Given the description of an element on the screen output the (x, y) to click on. 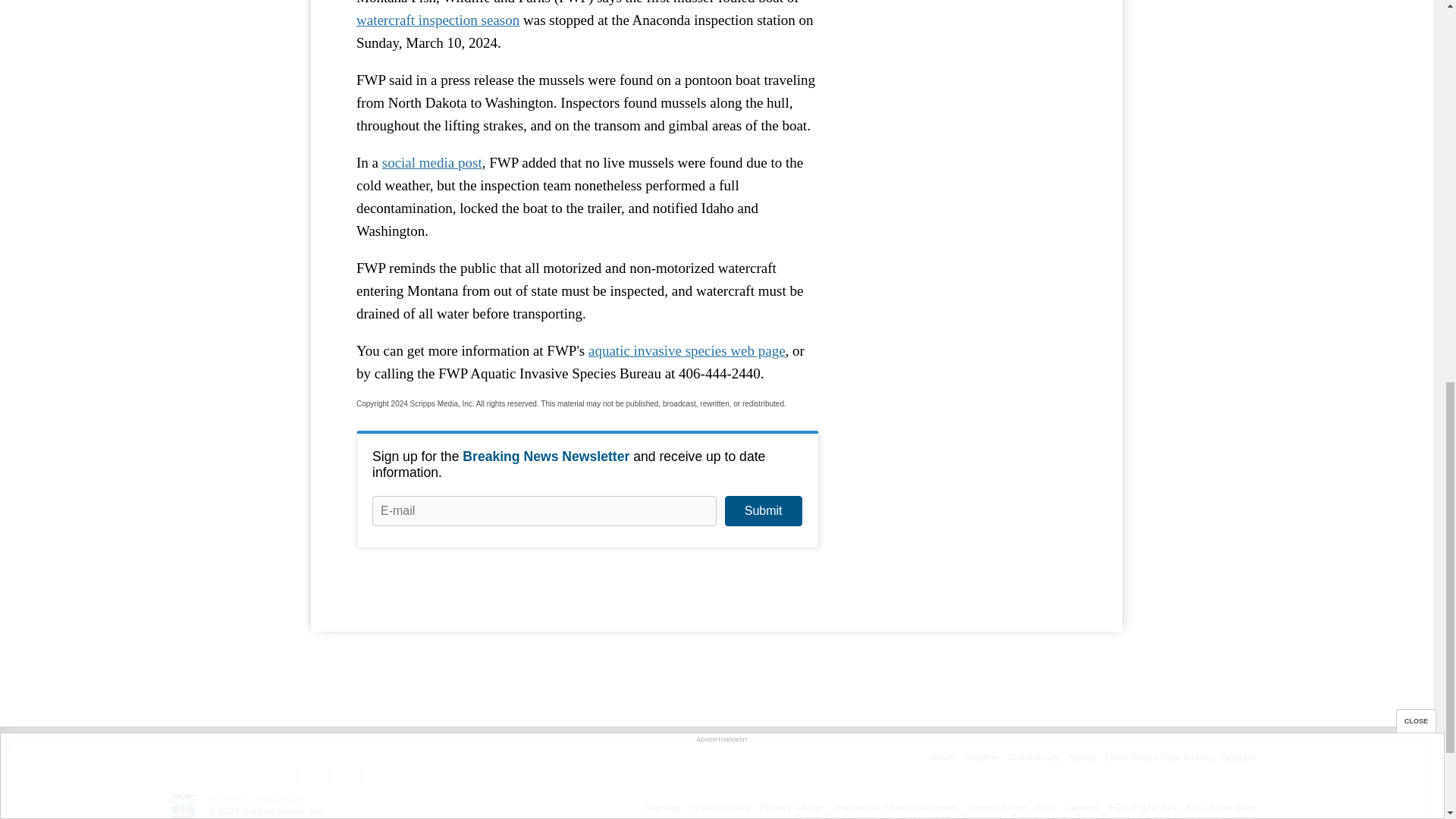
Submit (763, 511)
3rd party ad content (962, 76)
